Given the description of an element on the screen output the (x, y) to click on. 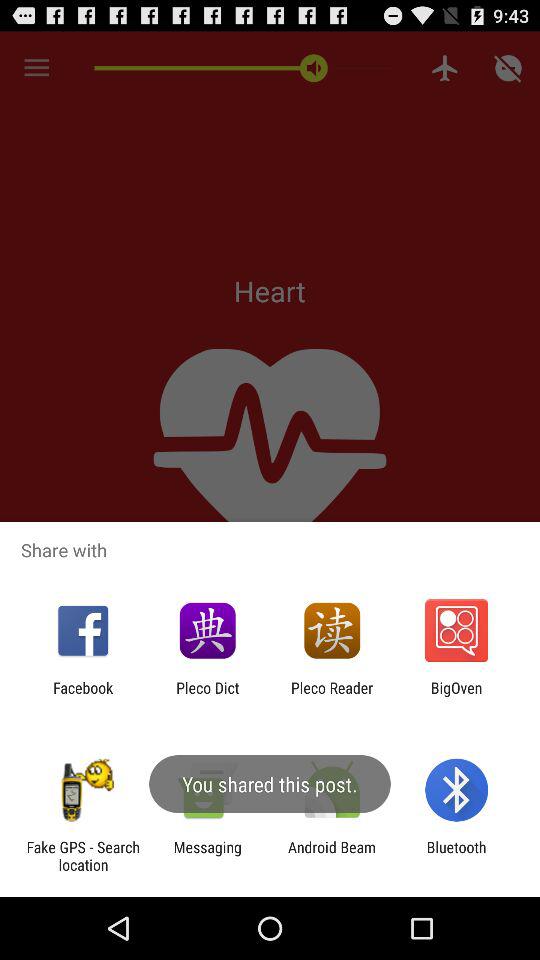
click the facebook item (83, 696)
